Given the description of an element on the screen output the (x, y) to click on. 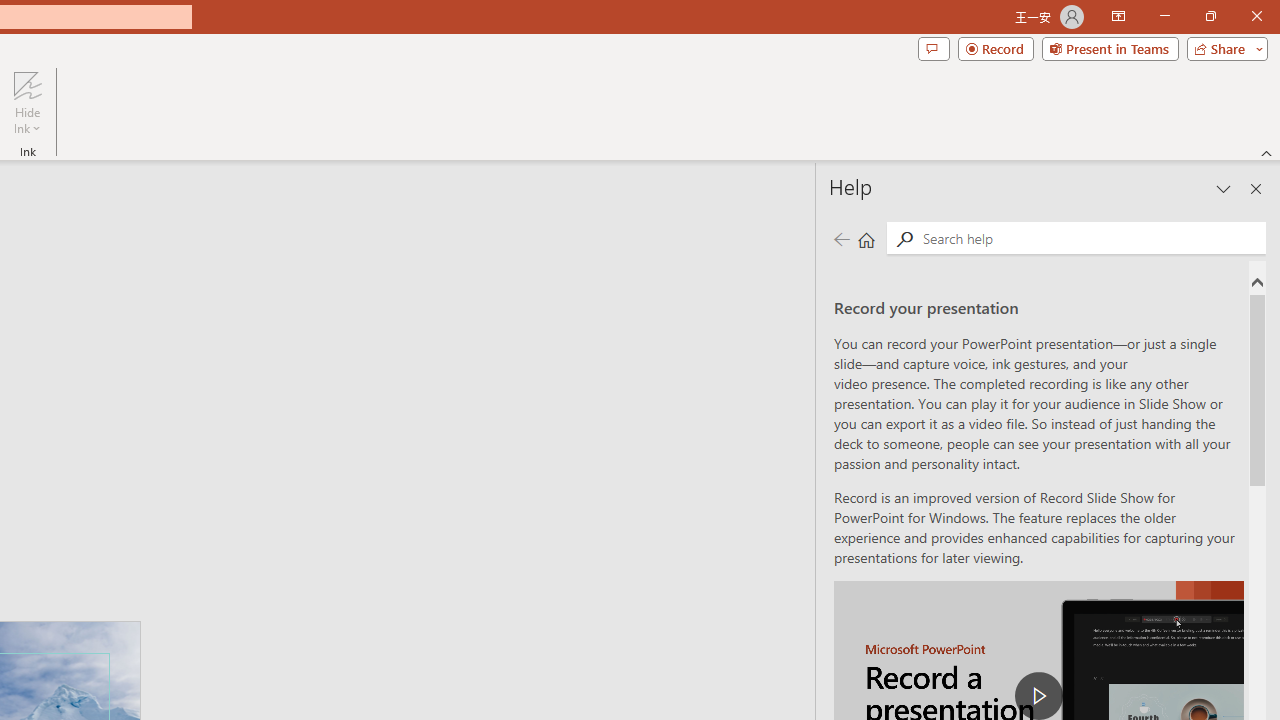
Previous page (841, 238)
